Given the description of an element on the screen output the (x, y) to click on. 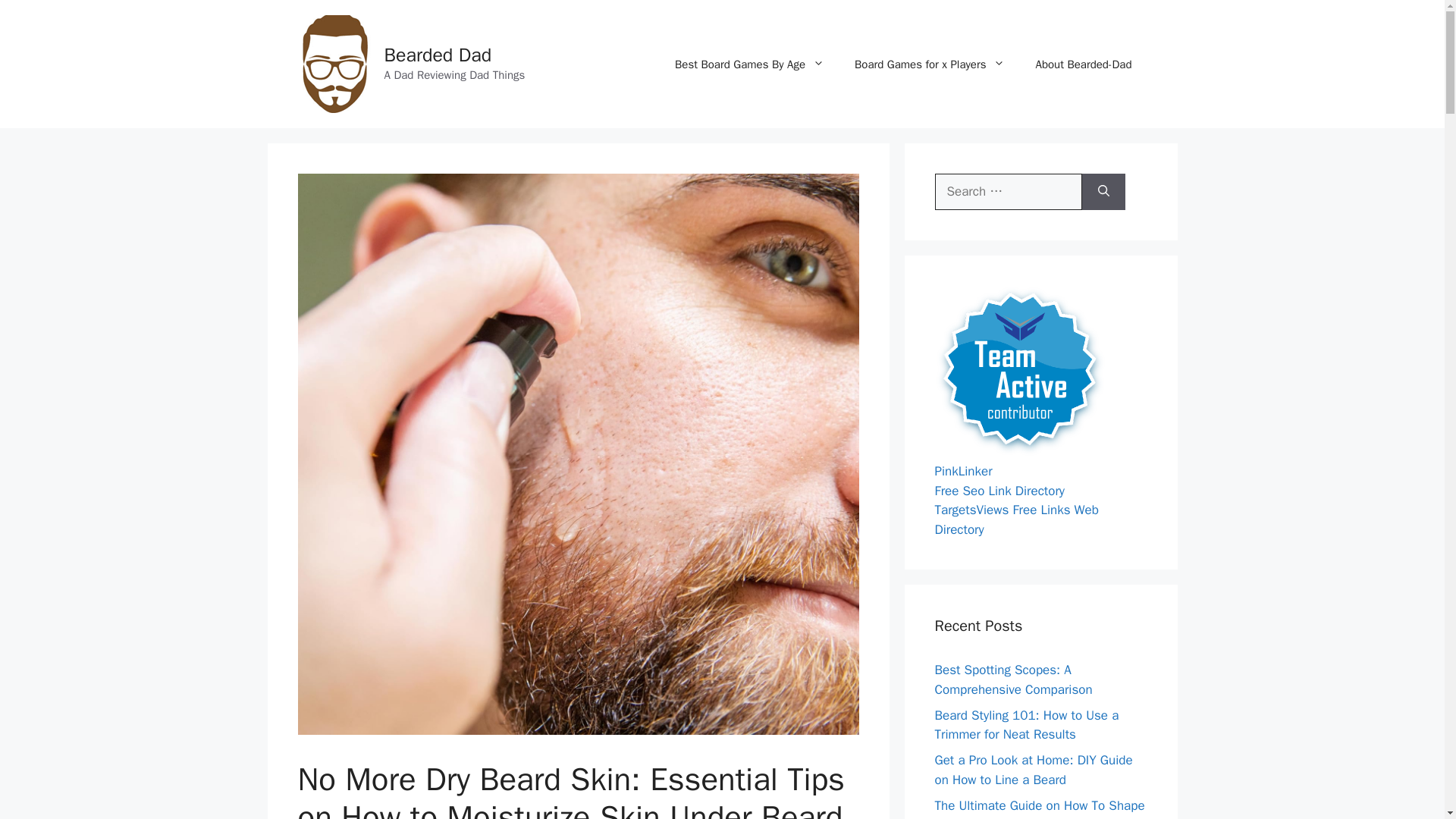
Free Seo Link Directory (999, 489)
Bearded Dad (438, 54)
Search for: (1007, 191)
Best Board Games By Age (749, 63)
Board Games for x Players (930, 63)
About Bearded-Dad (1083, 63)
TargetsViews Free Links Web Directory (1015, 519)
PinkLinker (962, 471)
